Given the description of an element on the screen output the (x, y) to click on. 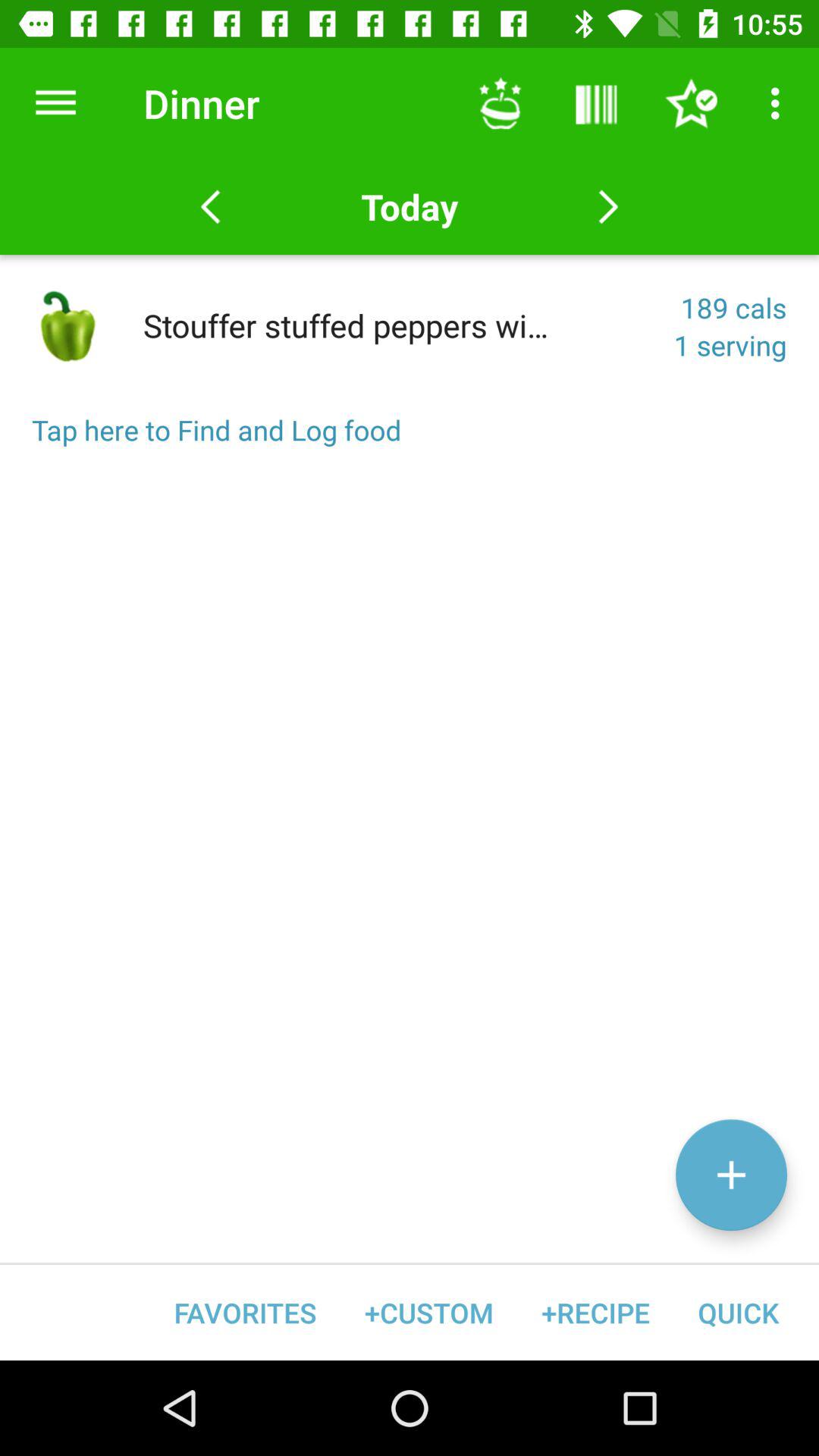
last item (210, 206)
